Given the description of an element on the screen output the (x, y) to click on. 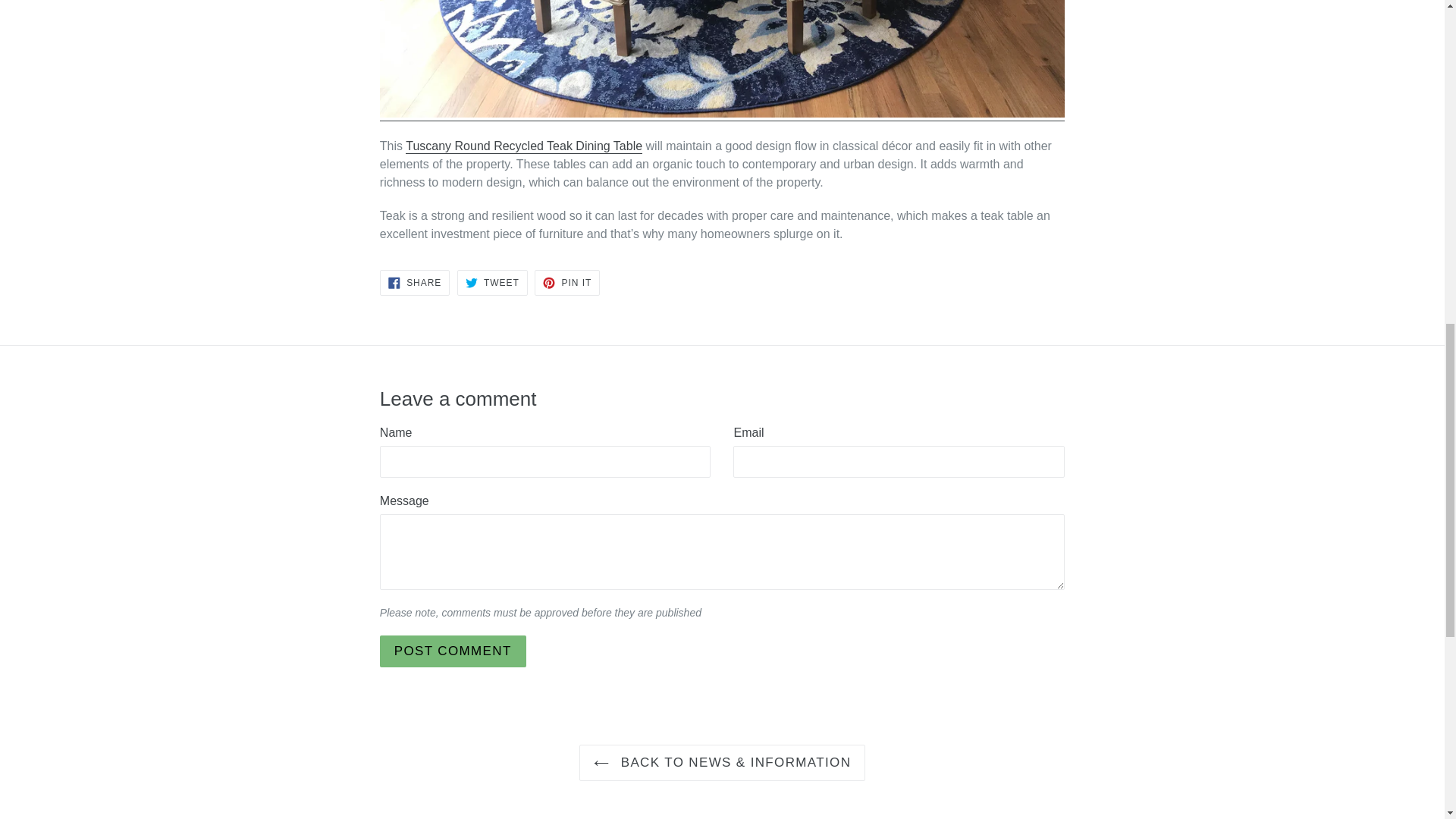
Pin on Pinterest (566, 282)
Post comment (452, 651)
Tweet on Twitter (492, 282)
Facebook Chic Teak Post (722, 114)
Share on Facebook (414, 282)
